Given the description of an element on the screen output the (x, y) to click on. 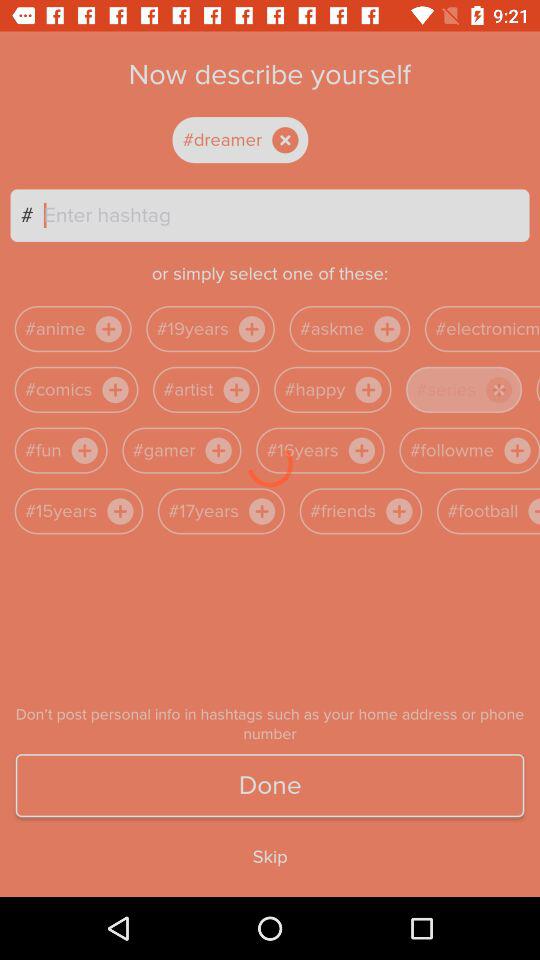
hashtag textbox (286, 215)
